Given the description of an element on the screen output the (x, y) to click on. 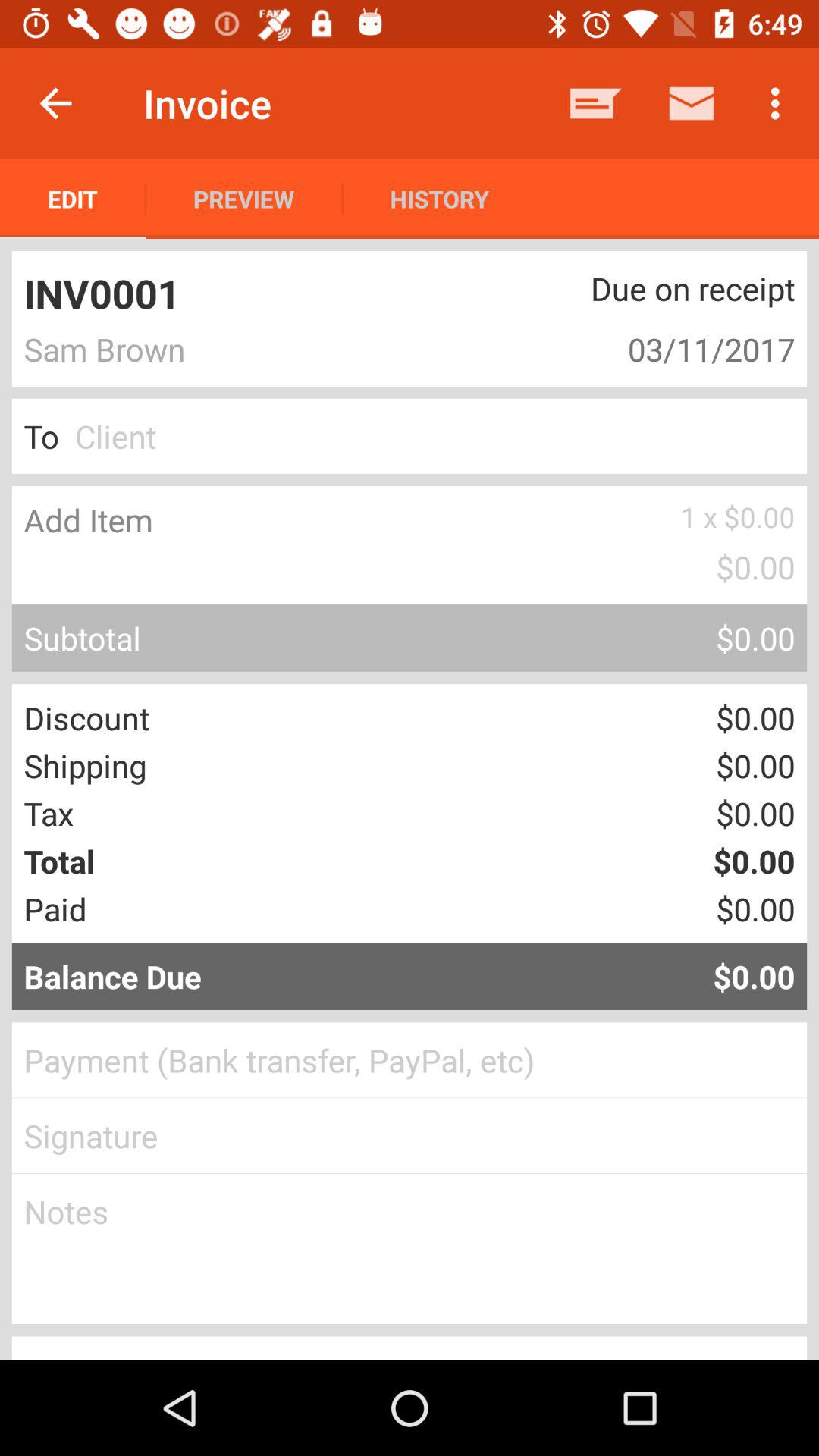
launch the app next to the preview app (72, 198)
